Given the description of an element on the screen output the (x, y) to click on. 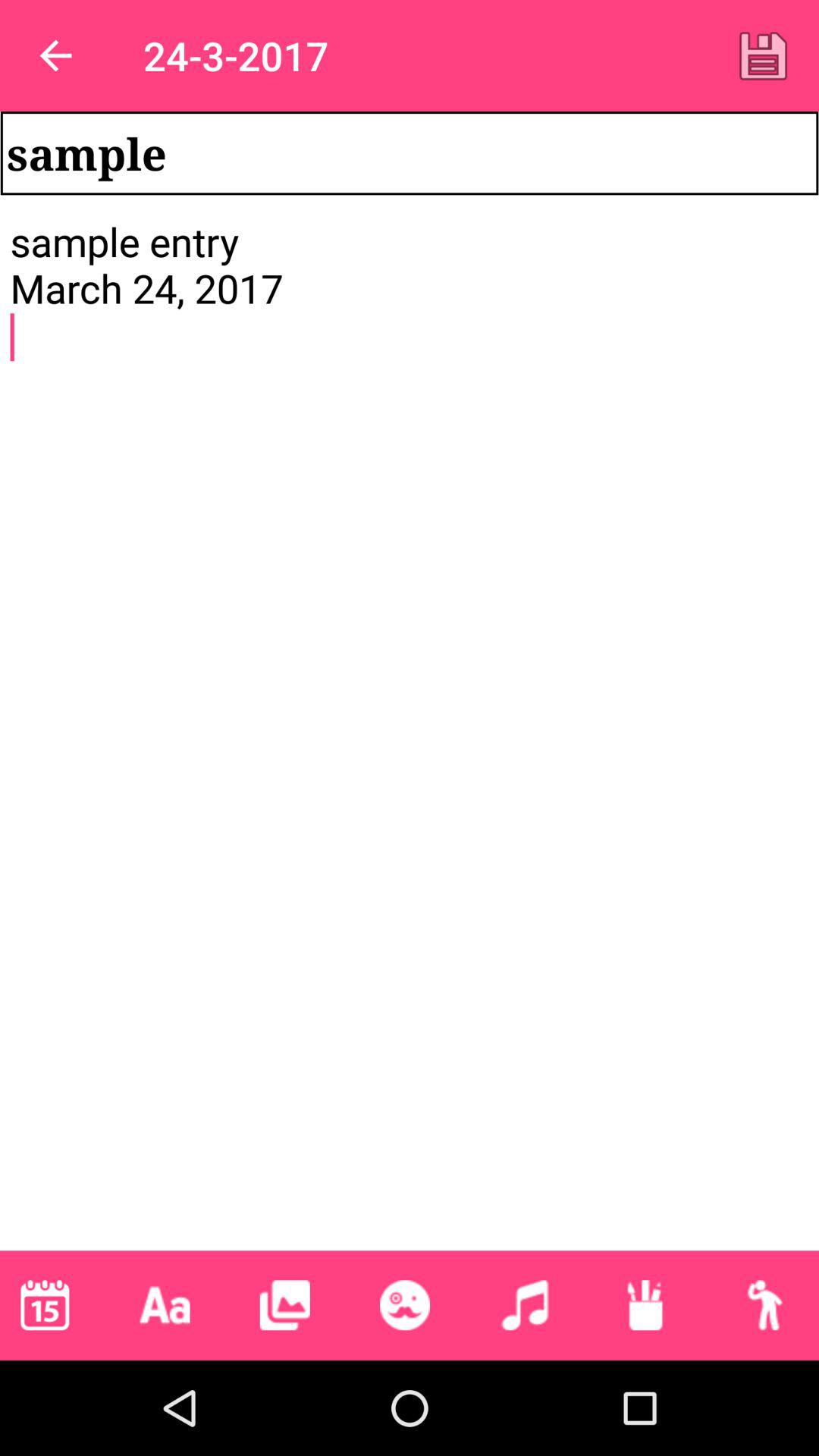
add text to the note (164, 1305)
